Given the description of an element on the screen output the (x, y) to click on. 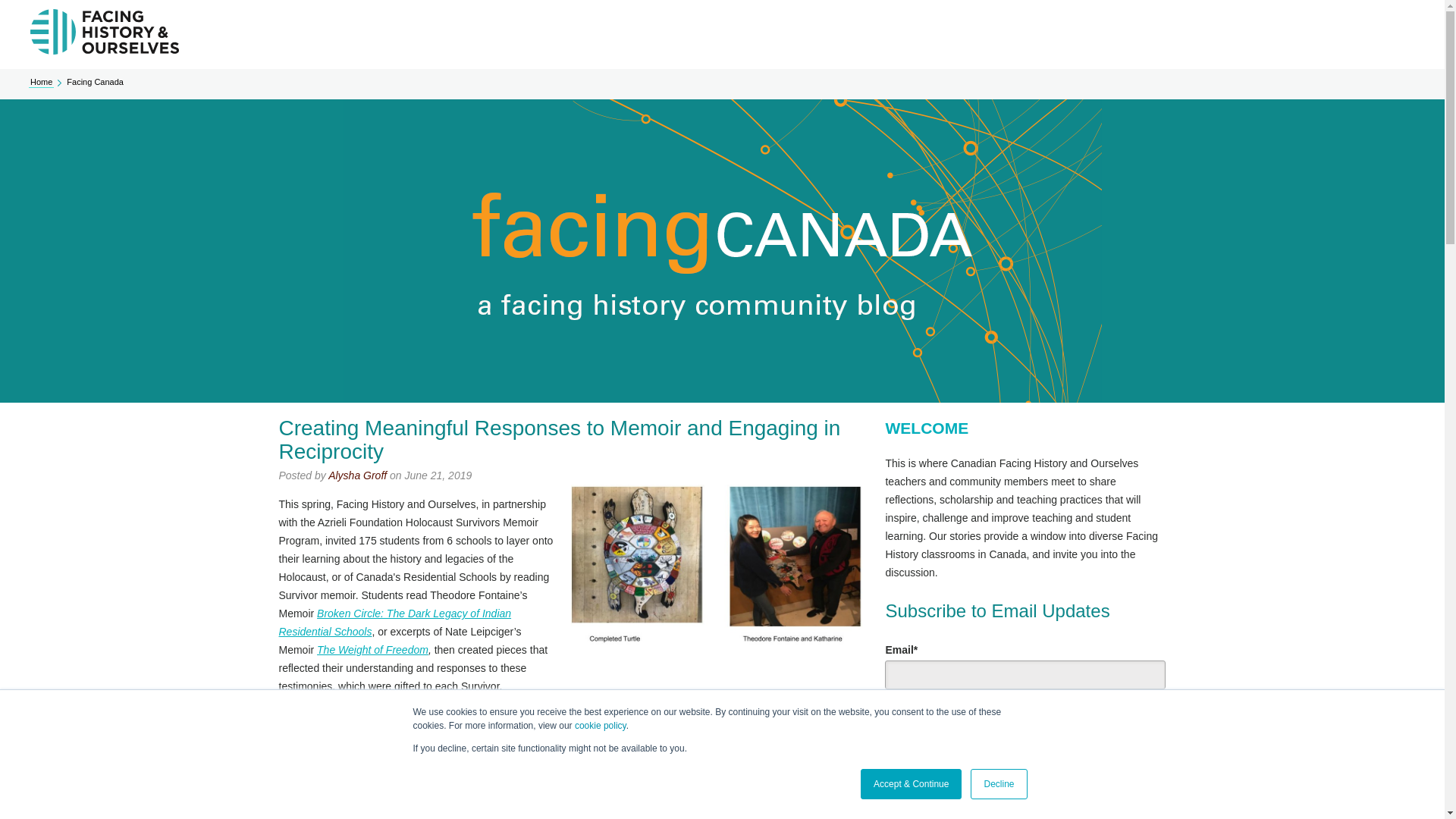
genocide (557, 788)
Facing History and Ourselves (539, 770)
Student Work (453, 788)
Holocaust and Human Behaviour (669, 788)
CHC (516, 806)
Residential Schools (551, 779)
difficult conversations (590, 806)
Survivor Testimony (668, 770)
Decline (998, 784)
Canadian History (369, 788)
